Given the description of an element on the screen output the (x, y) to click on. 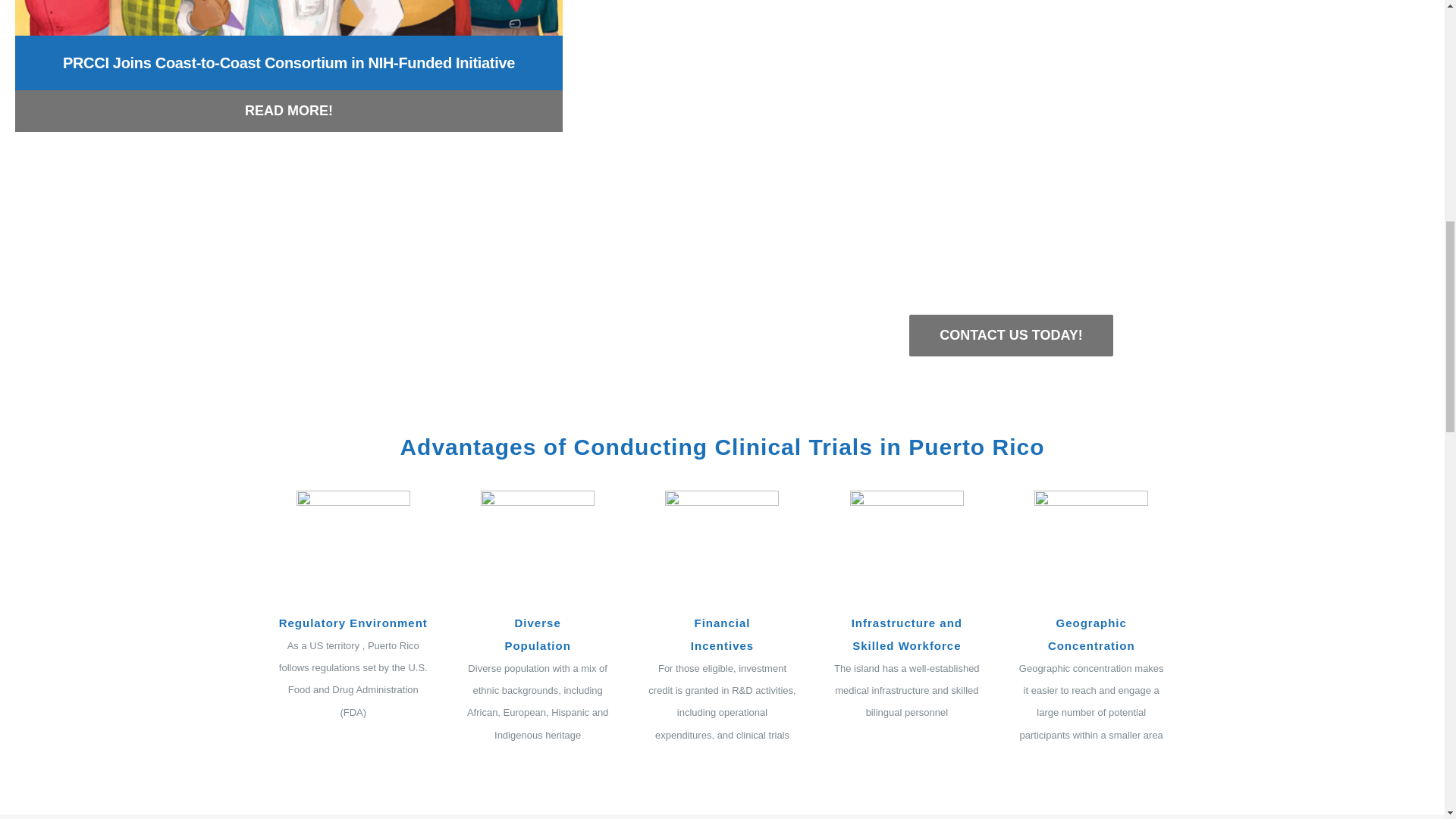
CONTACT US TODAY! (1010, 335)
5 (1090, 547)
2 (537, 547)
3 (721, 547)
1 (353, 547)
READ MORE! (288, 110)
4 (906, 547)
